Given the description of an element on the screen output the (x, y) to click on. 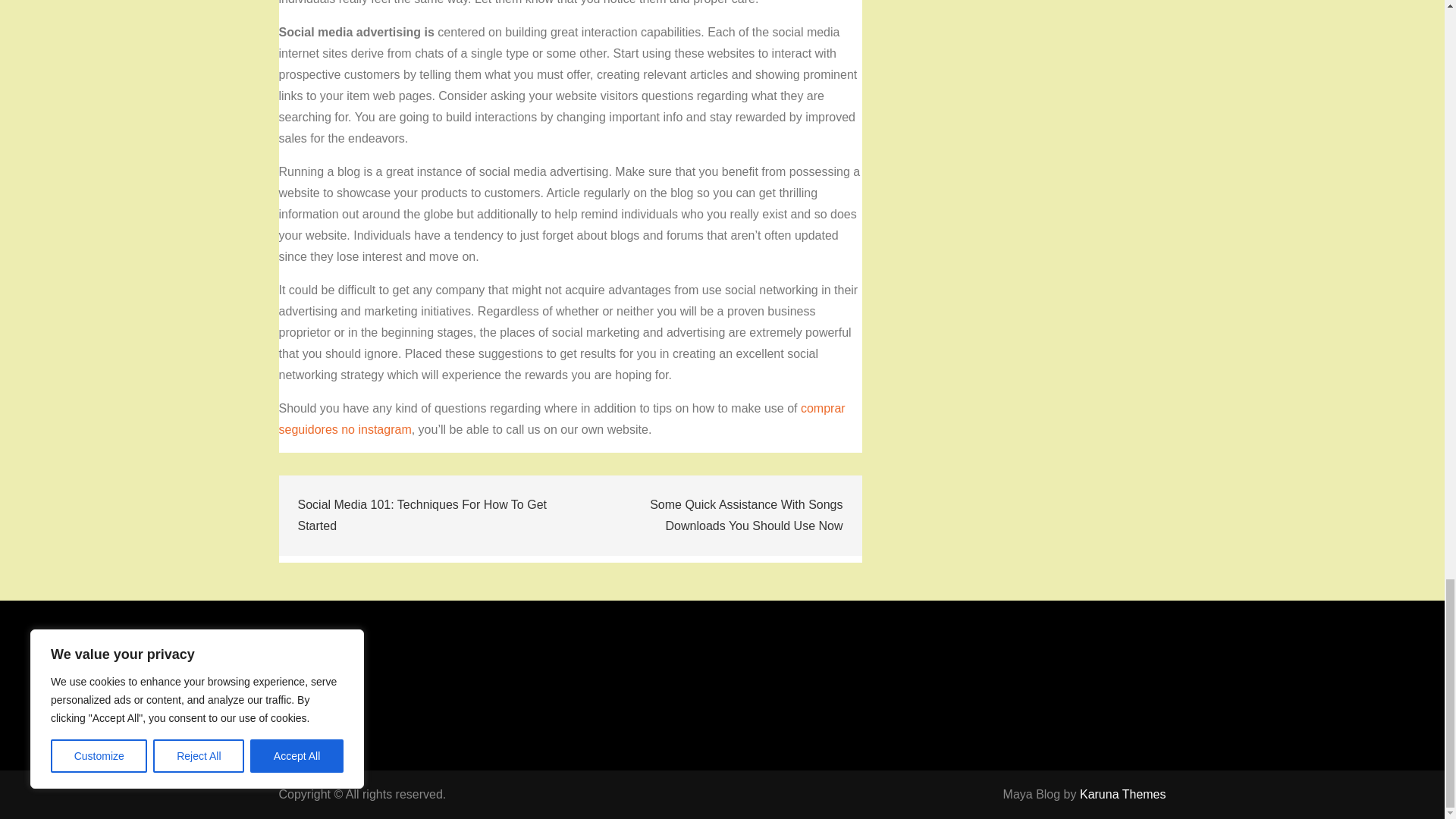
Social Media 101: Techniques For How To Get Started (424, 515)
comprar seguidores no instagram (562, 418)
